Given the description of an element on the screen output the (x, y) to click on. 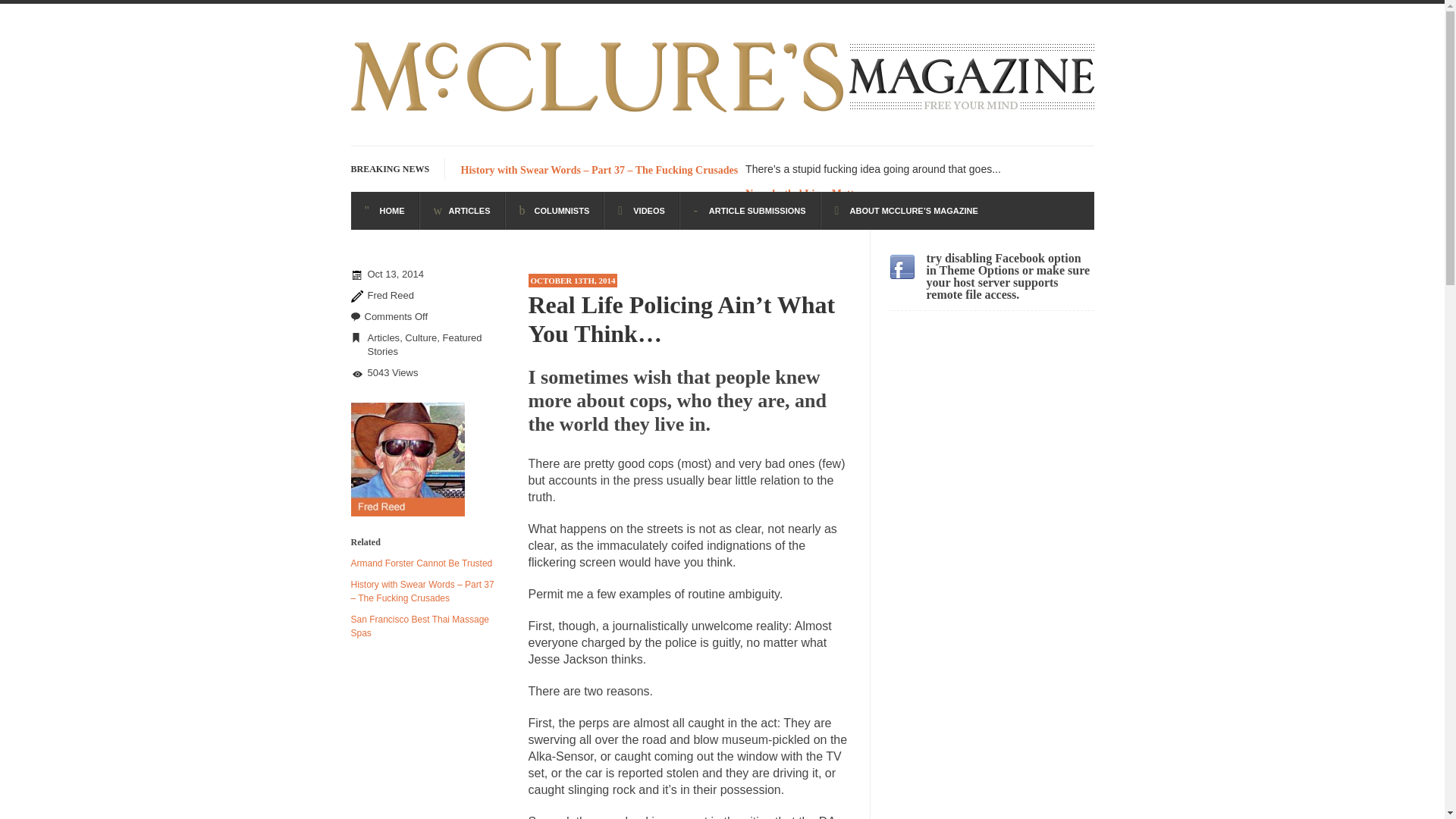
McClure's Magazine (721, 114)
San Francisco Best Thai Massage Spas (419, 626)
Armand Forster Cannot Be Trusted (421, 562)
Neanderthal Lives Matter (804, 193)
